Given the description of an element on the screen output the (x, y) to click on. 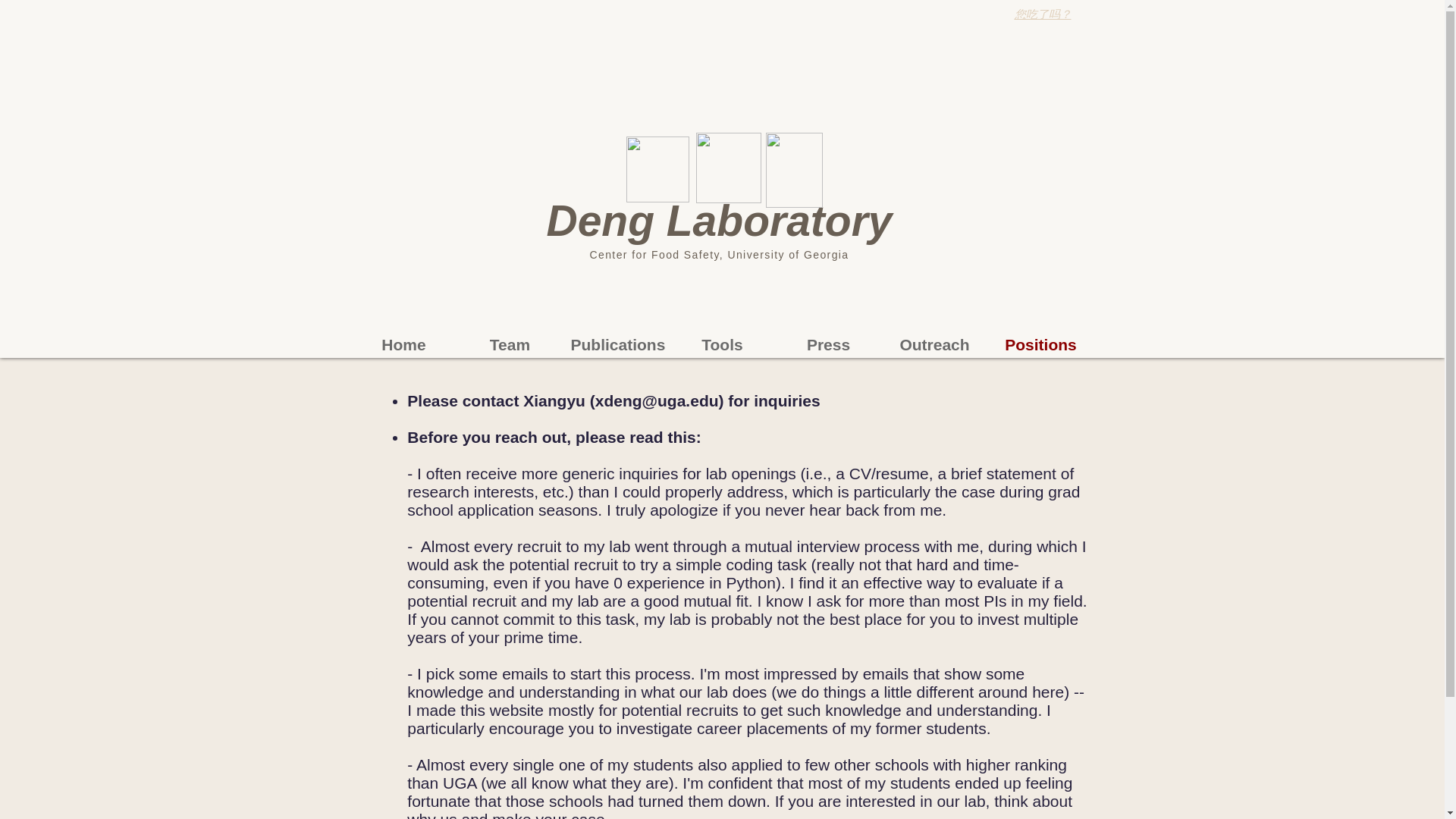
Tools (721, 344)
Publications (615, 344)
Home (403, 344)
Team (509, 344)
Outreach (933, 344)
Press (827, 344)
Positions (1040, 344)
Center for Food Safety, University of Georgia (718, 254)
